Given the description of an element on the screen output the (x, y) to click on. 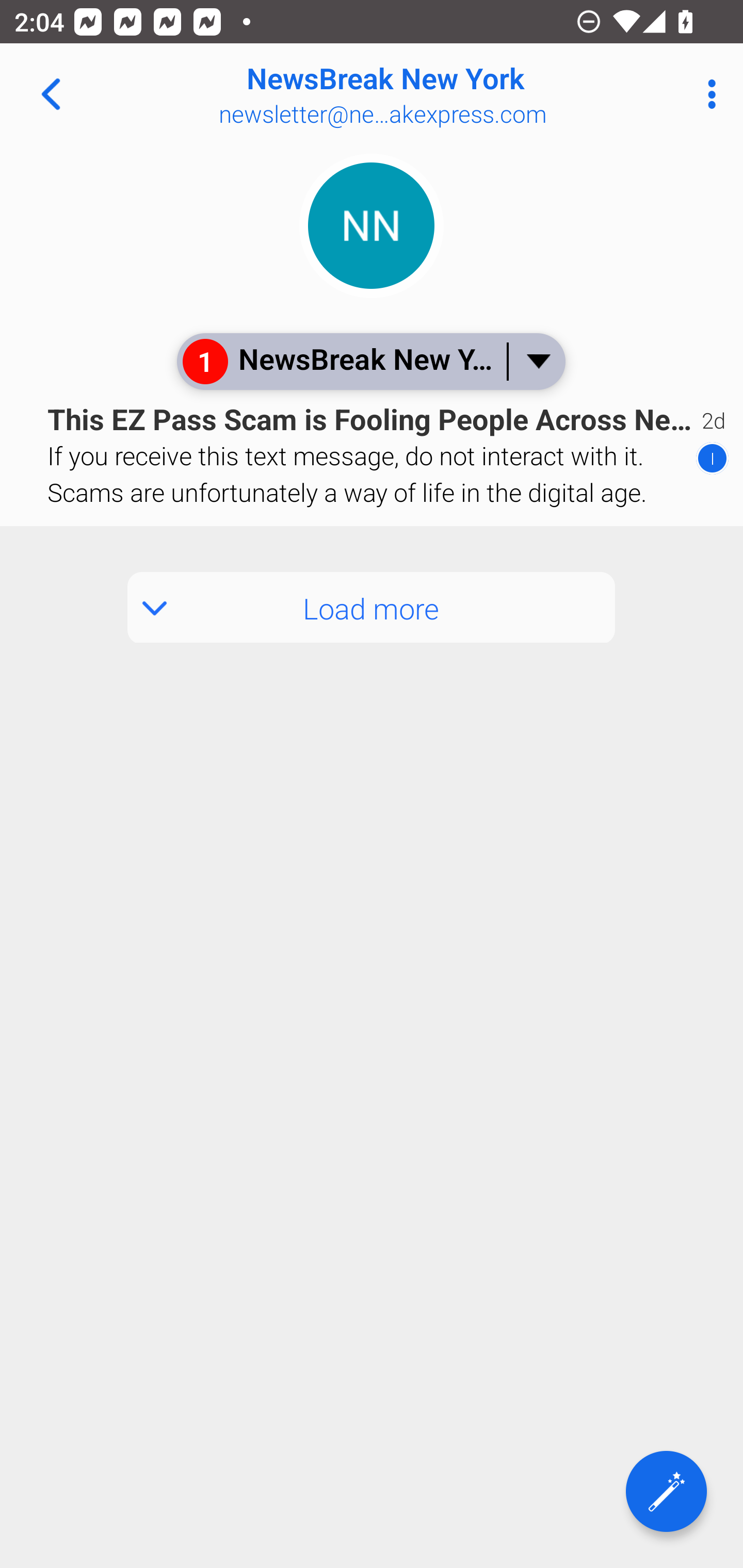
Navigate up (50, 93)
NewsBreak New York newsletter@newsbreakexpress.com (436, 93)
More Options (706, 93)
1 NewsBreak New York & You (370, 361)
Load more (371, 607)
